Given the description of an element on the screen output the (x, y) to click on. 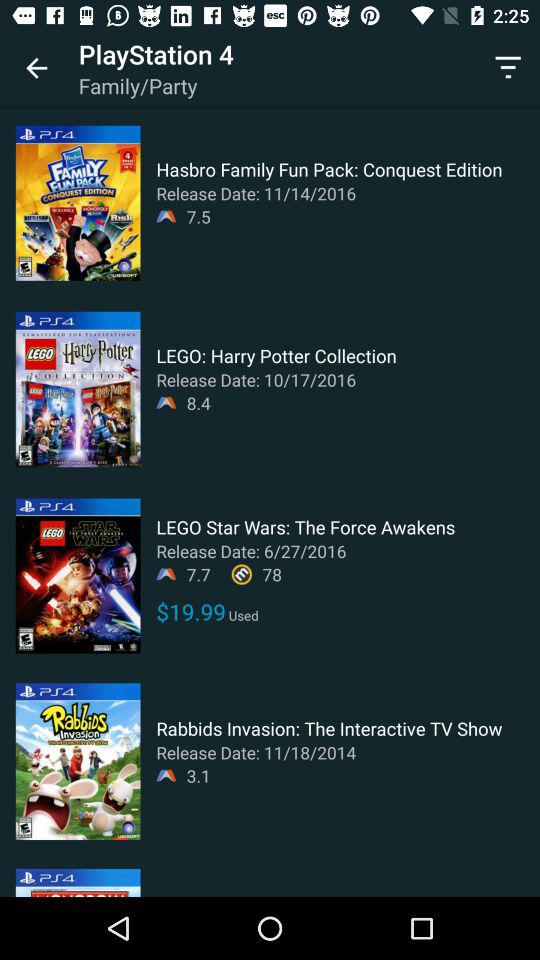
tap the icon above hasbro family fun (508, 67)
